Given the description of an element on the screen output the (x, y) to click on. 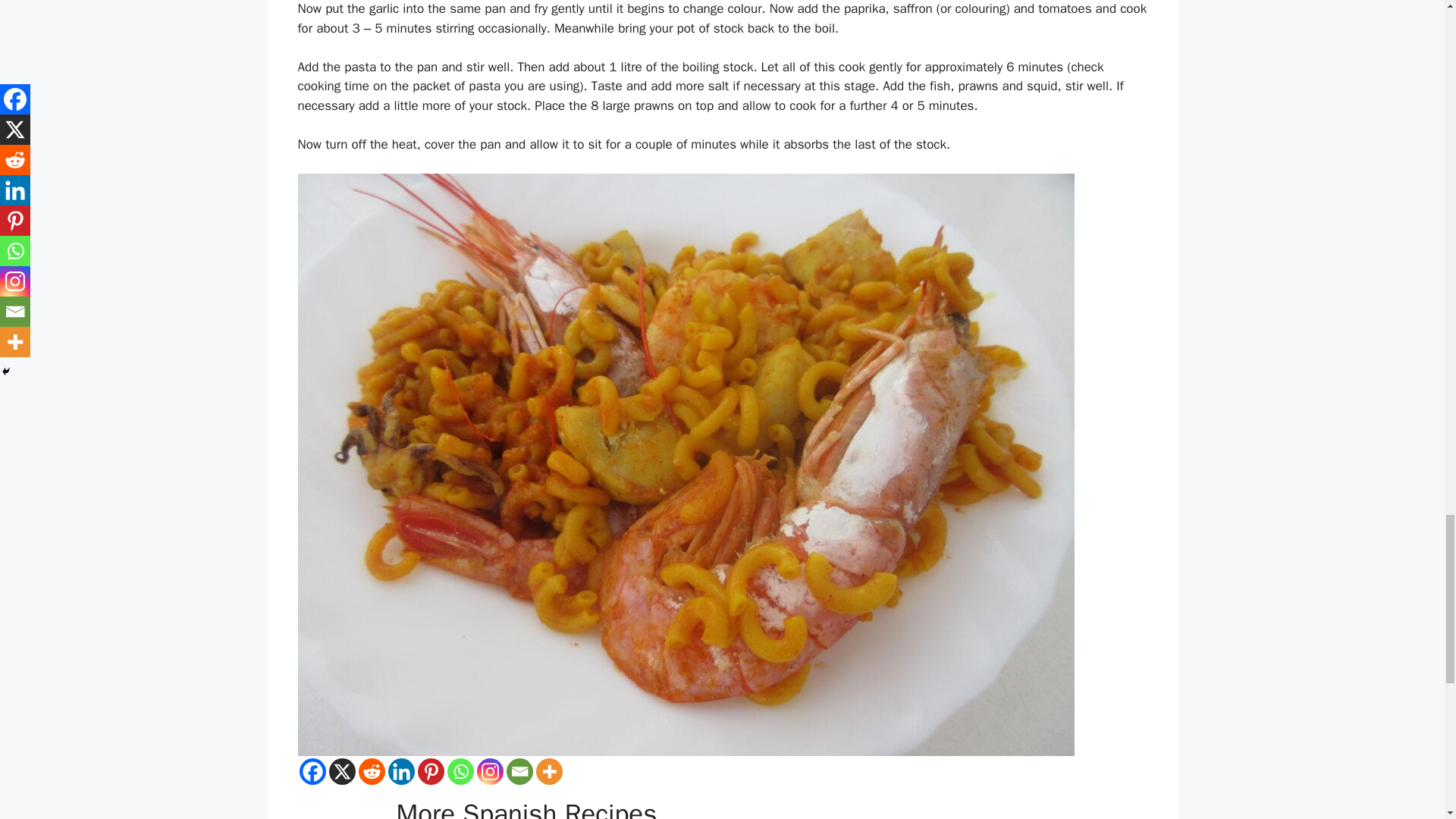
Instagram (489, 771)
Facebook (311, 771)
Email (519, 771)
Pinterest (430, 771)
Whatsapp (460, 771)
Linkedin (401, 771)
Reddit (371, 771)
X (342, 771)
